Given the description of an element on the screen output the (x, y) to click on. 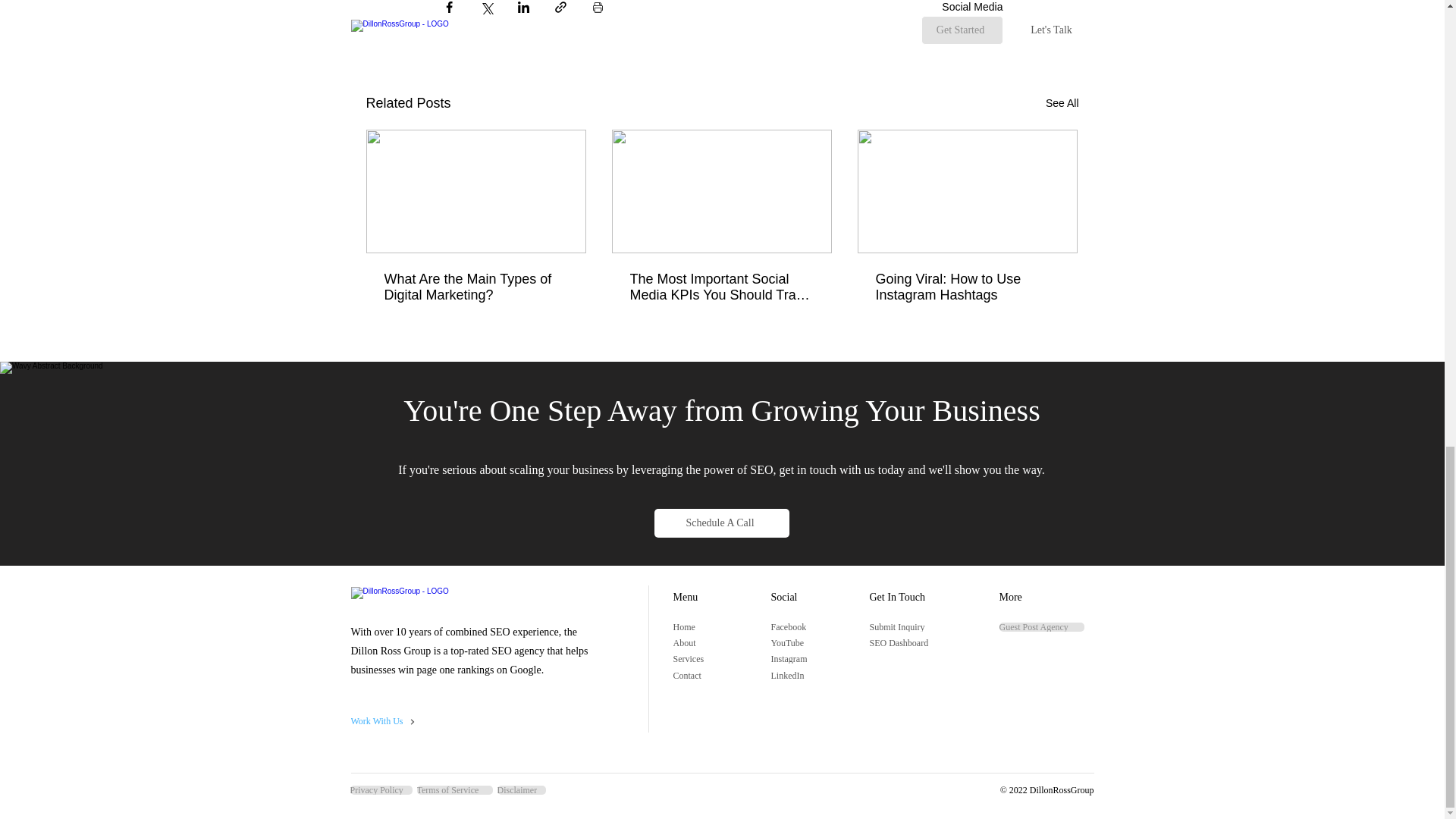
What Are the Main Types of Digital Marketing? (475, 287)
Social Media (972, 6)
See All (1061, 103)
